Given the description of an element on the screen output the (x, y) to click on. 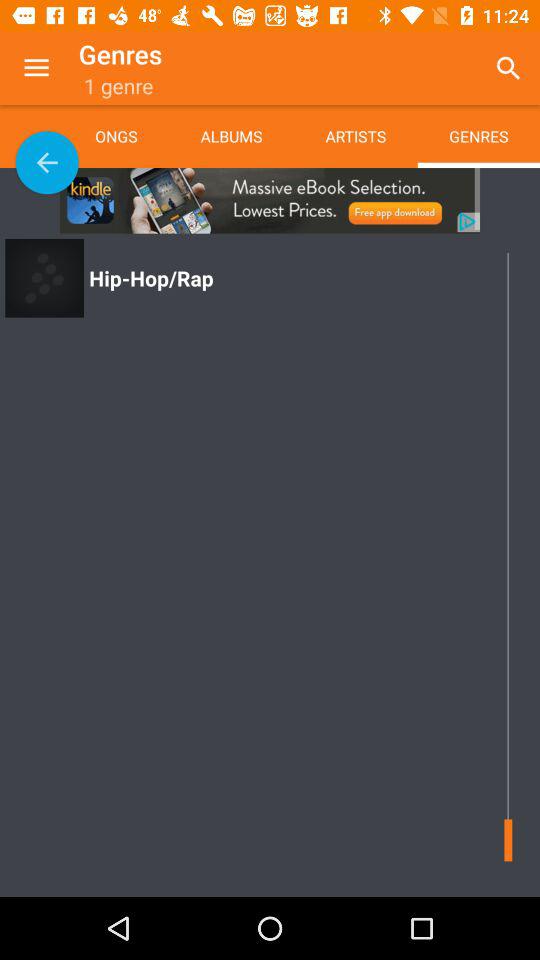
select the icon below the  1 genre  item (131, 136)
